Given the description of an element on the screen output the (x, y) to click on. 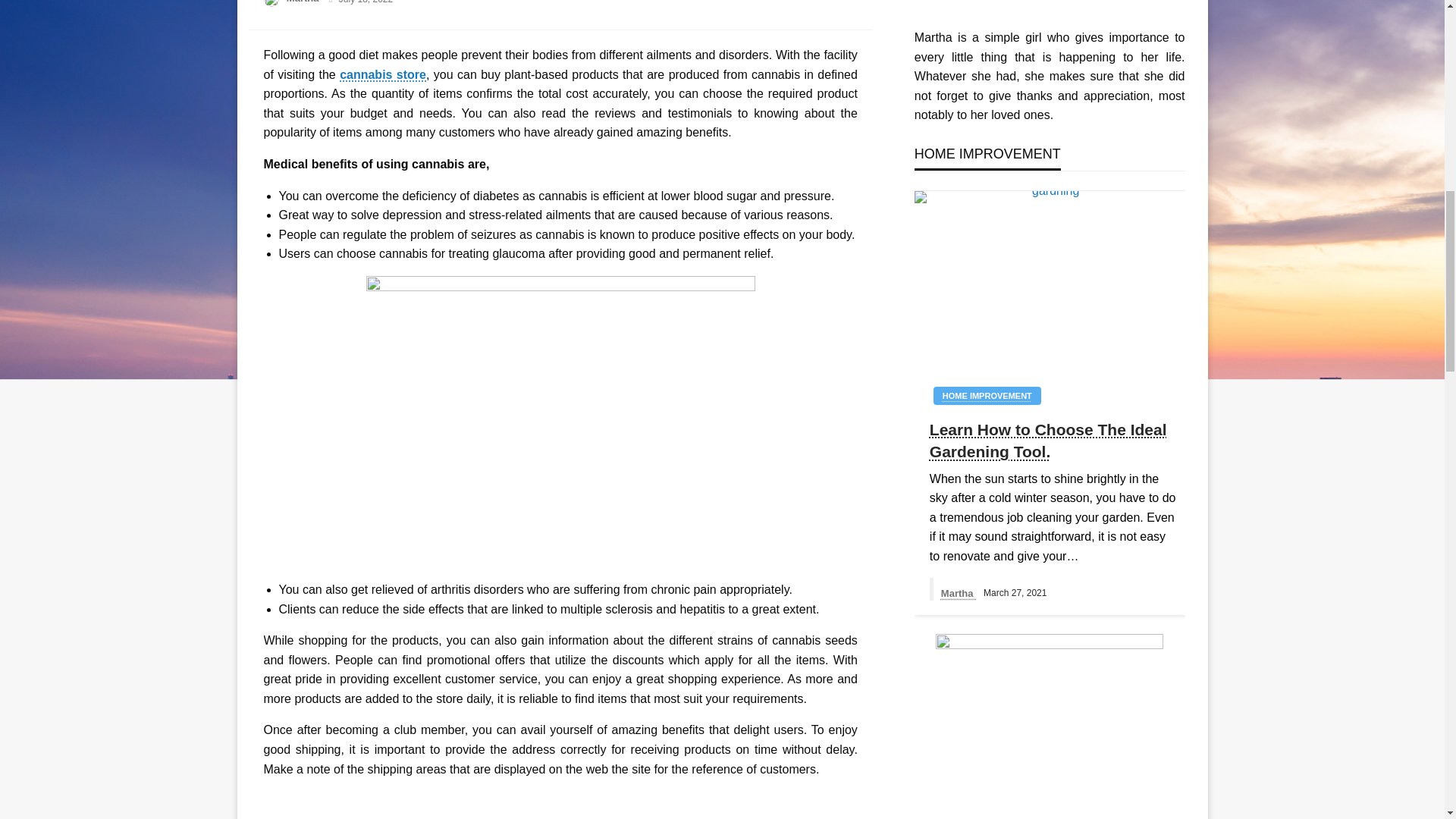
cannabis store (382, 74)
Martha (303, 2)
July 18, 2022 (366, 2)
HOME IMPROVEMENT (987, 395)
Martha (303, 2)
